Given the description of an element on the screen output the (x, y) to click on. 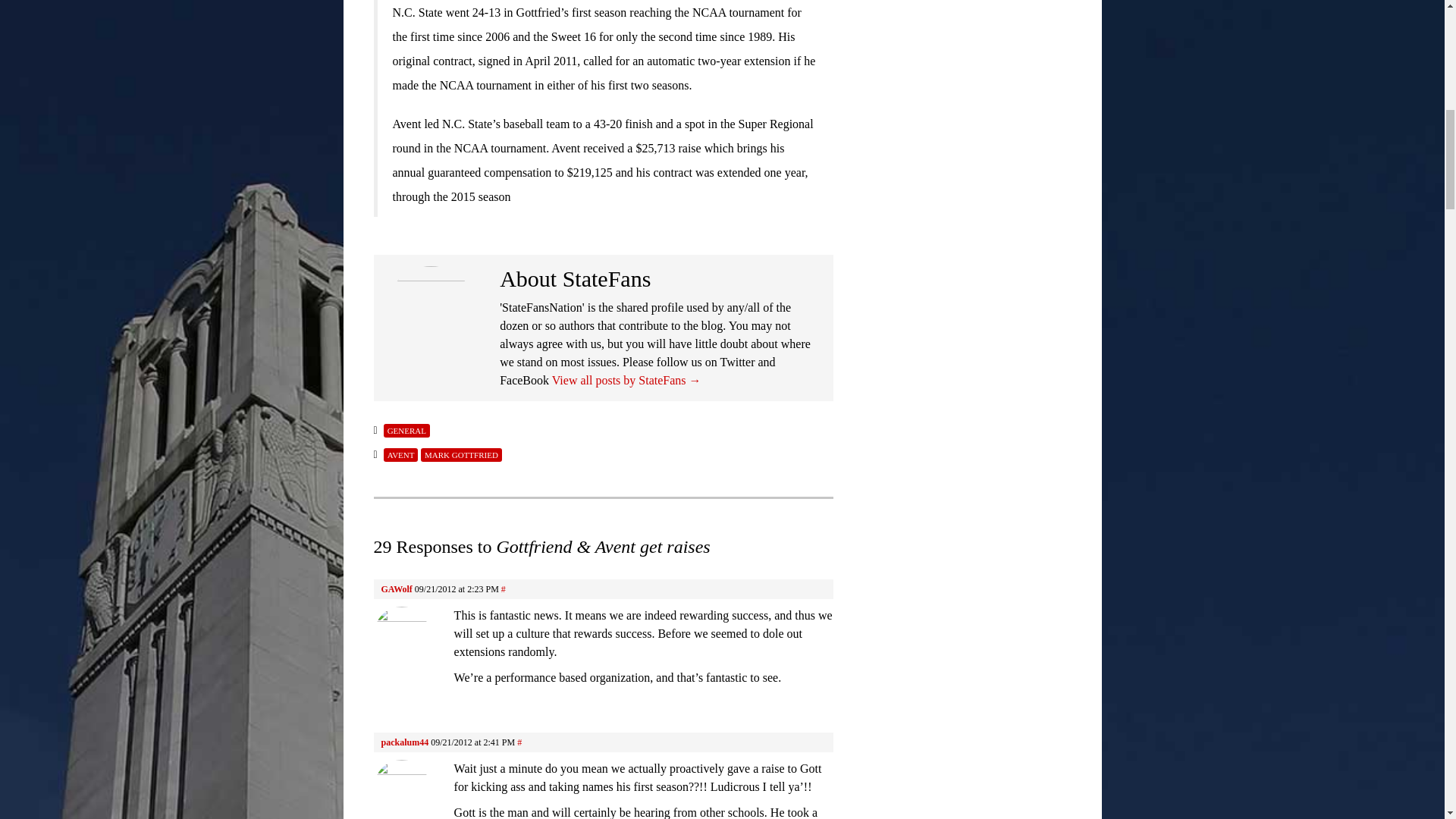
GENERAL (406, 430)
AVENT (401, 454)
GAWolf (396, 588)
Direct link to this comment (518, 742)
MARK GOTTFRIED (461, 454)
Direct link to this comment (502, 588)
